Given the description of an element on the screen output the (x, y) to click on. 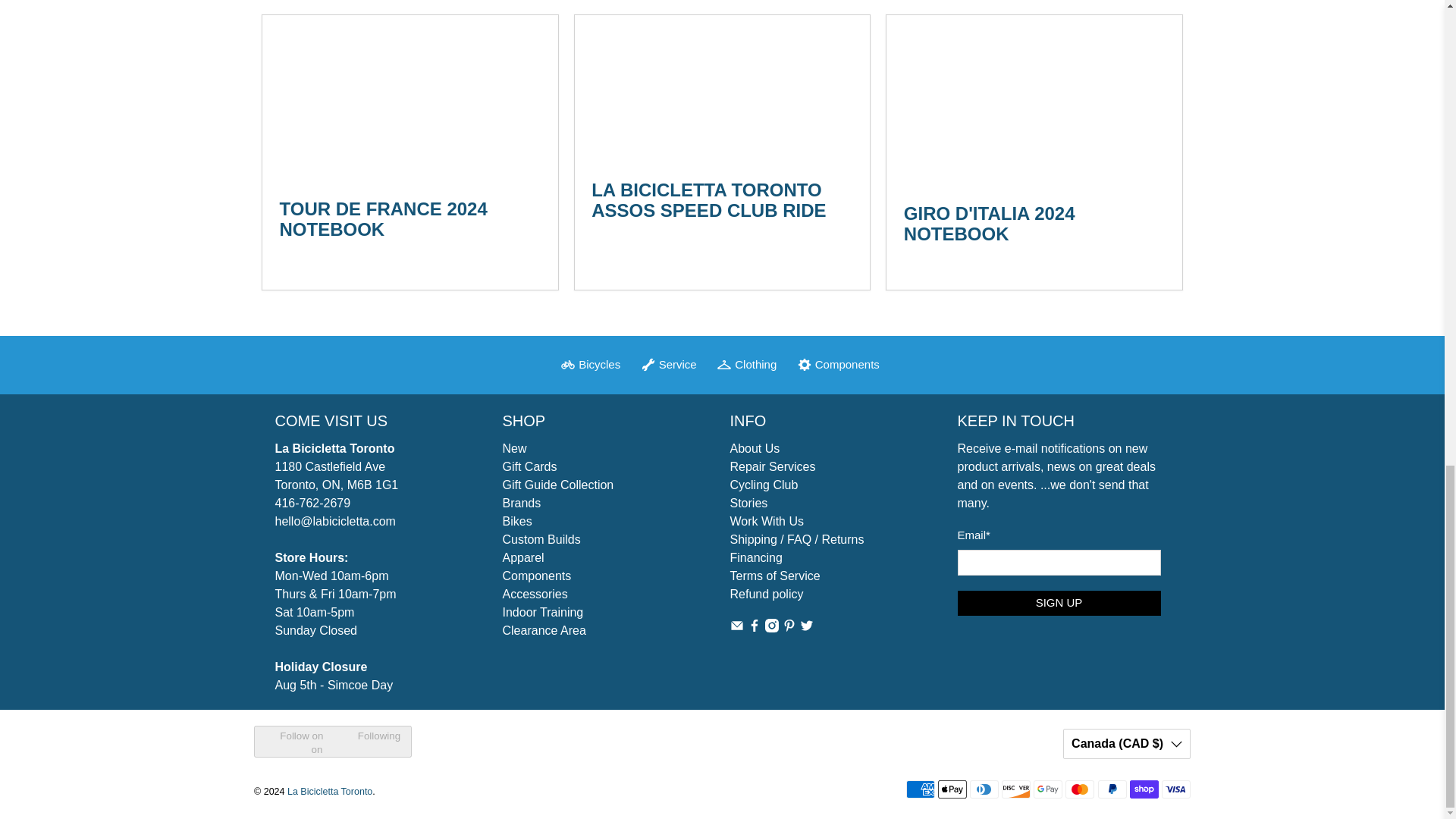
American Express (919, 789)
Google Pay (1047, 789)
La Bicicletta Toronto ASSOS Speed Club Ride (722, 88)
Tour de France 2024 Notebook (382, 219)
Discover (1015, 789)
Tour de France 2024 Notebook (409, 97)
Apple Pay (951, 789)
Diners Club (983, 789)
